Given the description of an element on the screen output the (x, y) to click on. 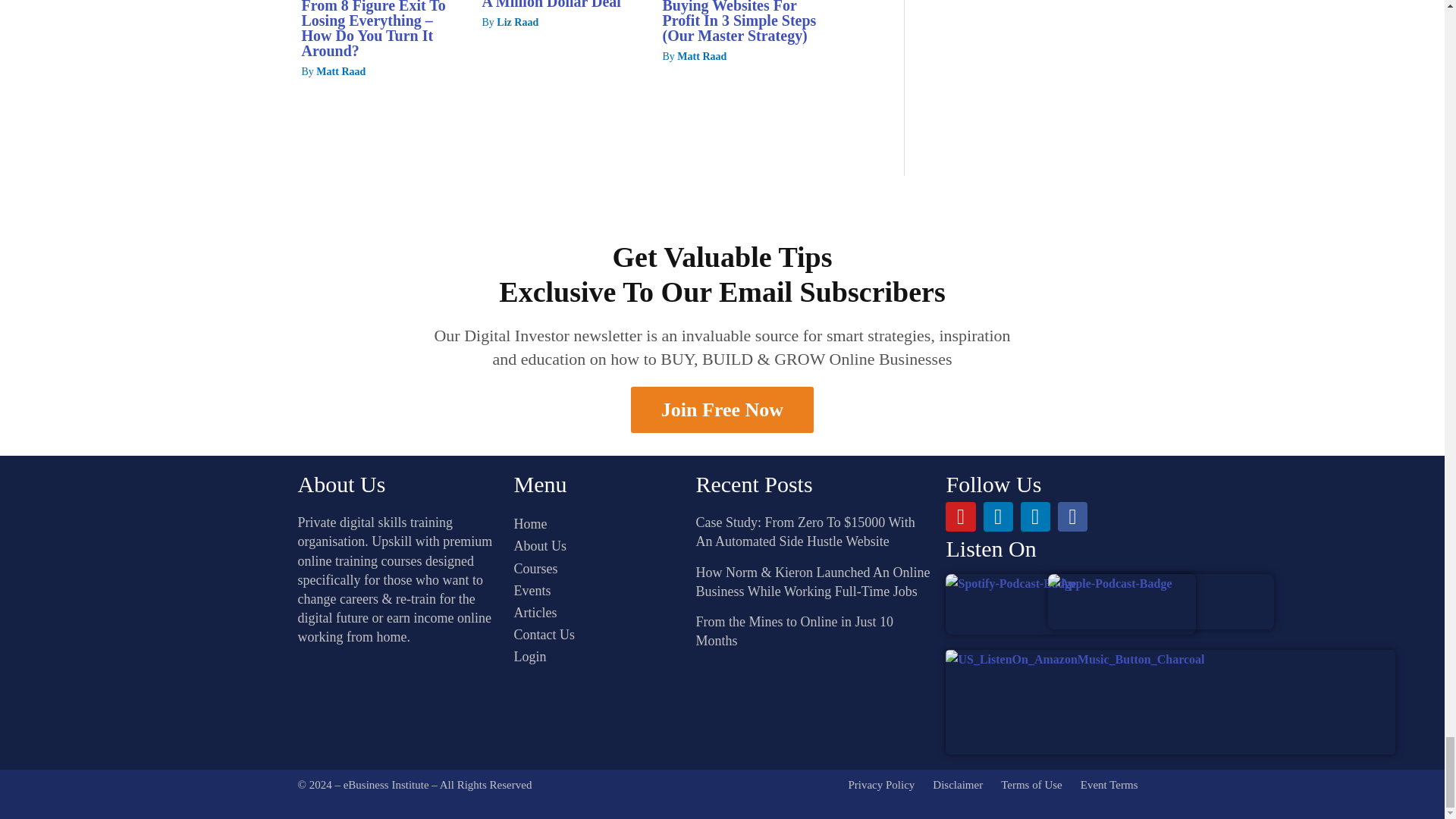
View all posts by Matt Raad (701, 56)
View all posts by Liz Raad (517, 21)
View all posts by Matt Raad (340, 71)
